Given the description of an element on the screen output the (x, y) to click on. 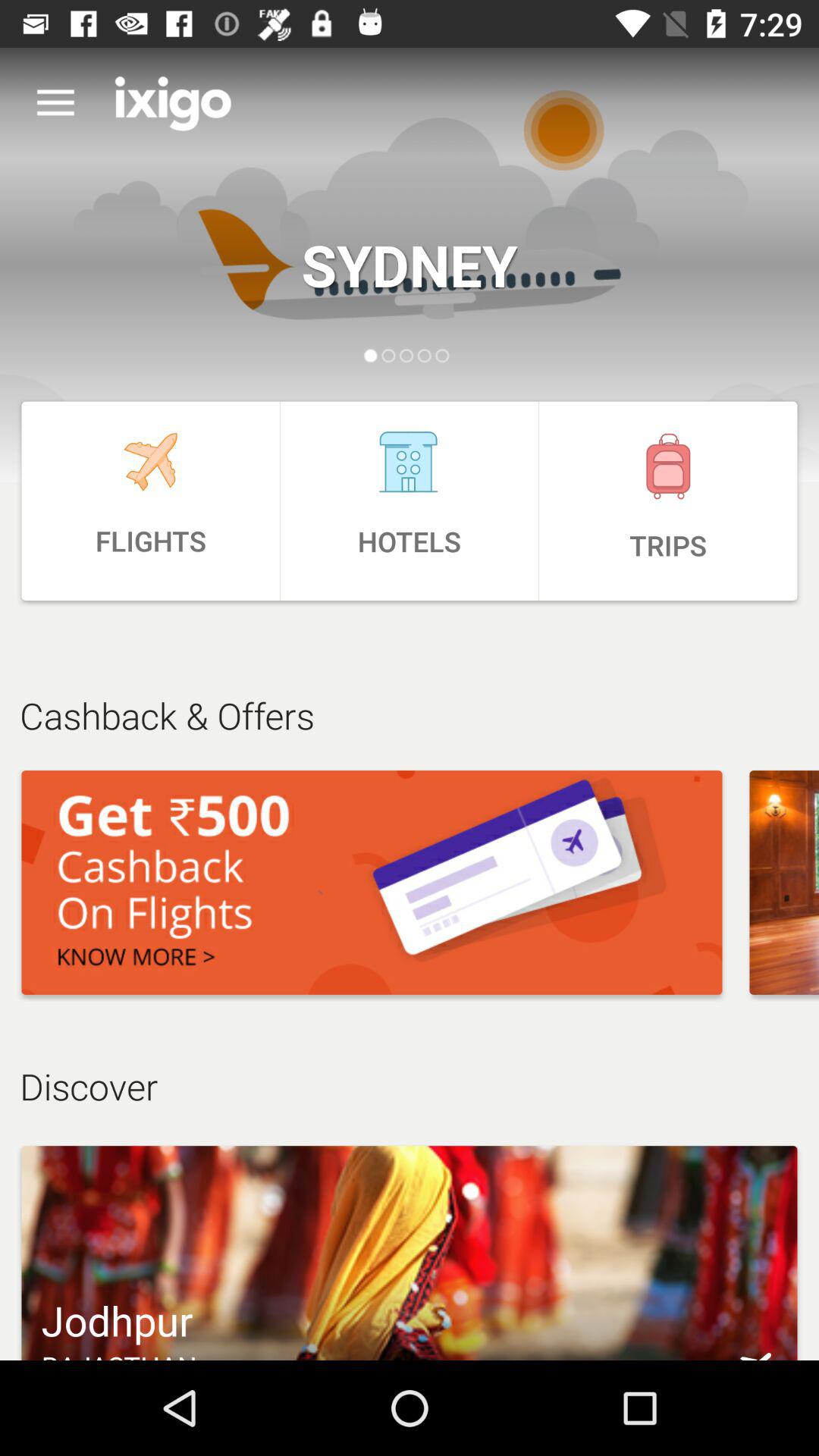
tap the icon to the right of flights item (409, 500)
